Given the description of an element on the screen output the (x, y) to click on. 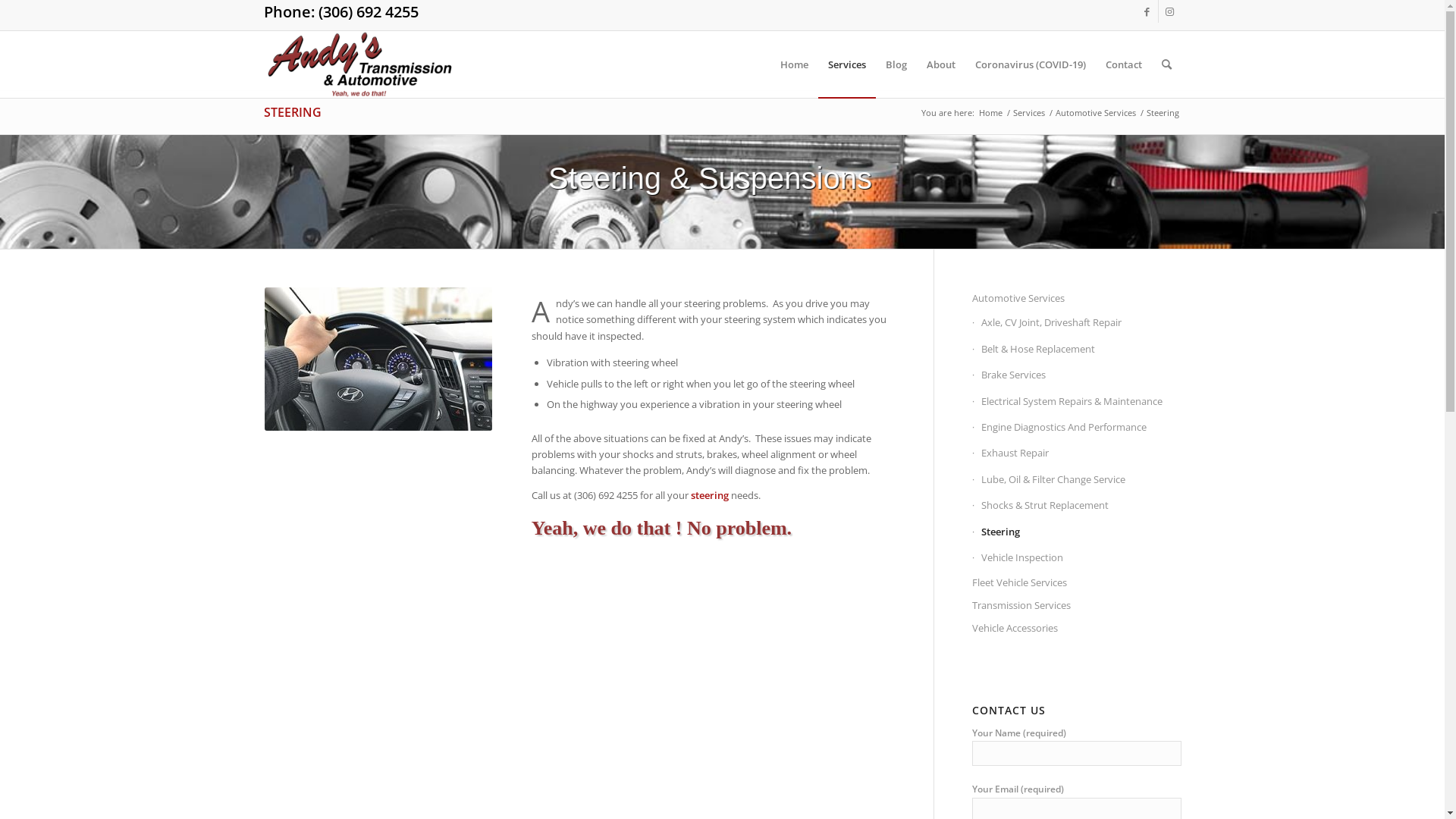
Electrical System Repairs & Maintenance Element type: text (1076, 401)
(306) 692 4255 Element type: text (368, 11)
Facebook Element type: hover (1146, 11)
Contact Element type: text (1123, 64)
Steering Suspension Repair Moose Jaw Element type: hover (378, 358)
Belt & Hose Replacement Element type: text (1076, 349)
Steering Element type: text (1076, 532)
STEERING Element type: text (292, 111)
Instagram Element type: hover (1169, 11)
Exhaust Repair Element type: text (1076, 453)
Transmission Services Element type: text (1076, 605)
Automotive Services Element type: text (1076, 298)
Vehicle Accessories Element type: text (1076, 628)
About Element type: text (940, 64)
Home Element type: text (794, 64)
Fleet Vehicle Services Element type: text (1076, 582)
Lube, Oil & Filter Change Service Element type: text (1076, 479)
Axle, CV Joint, Driveshaft Repair Element type: text (1076, 322)
Blog Element type: text (895, 64)
Brake Services Element type: text (1076, 375)
Coronavirus (COVID-19) Element type: text (1029, 64)
Home Element type: text (990, 112)
Automotive Services Element type: text (1094, 112)
Services Element type: text (846, 64)
Vehicle Inspection Element type: text (1076, 558)
Services Element type: text (1028, 112)
Shocks & Strut Replacement Element type: text (1076, 505)
Engine Diagnostics And Performance Element type: text (1076, 427)
